Given the description of an element on the screen output the (x, y) to click on. 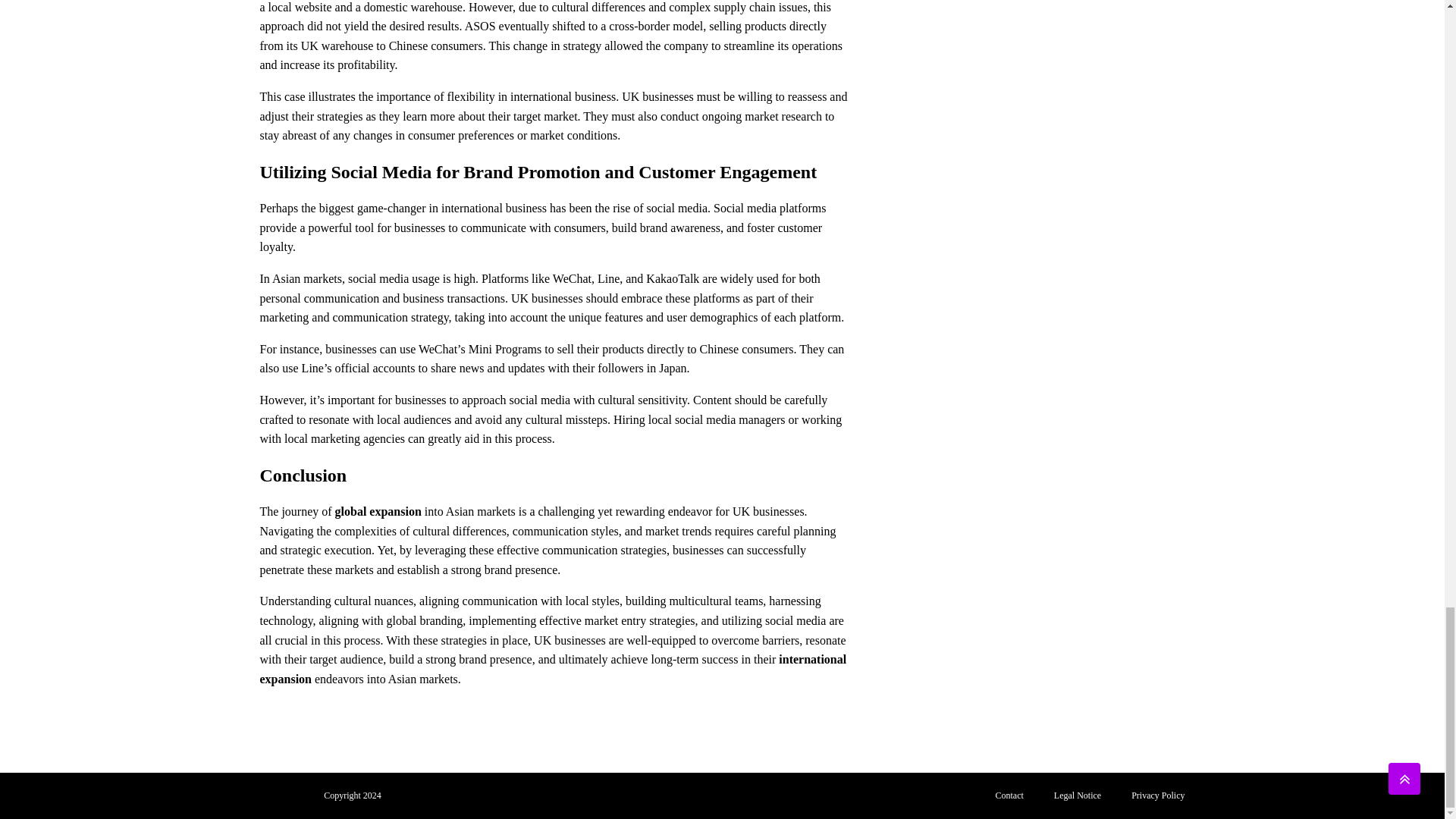
Legal Notice (1077, 795)
Privacy Policy (1157, 795)
Contact (1009, 795)
